Given the description of an element on the screen output the (x, y) to click on. 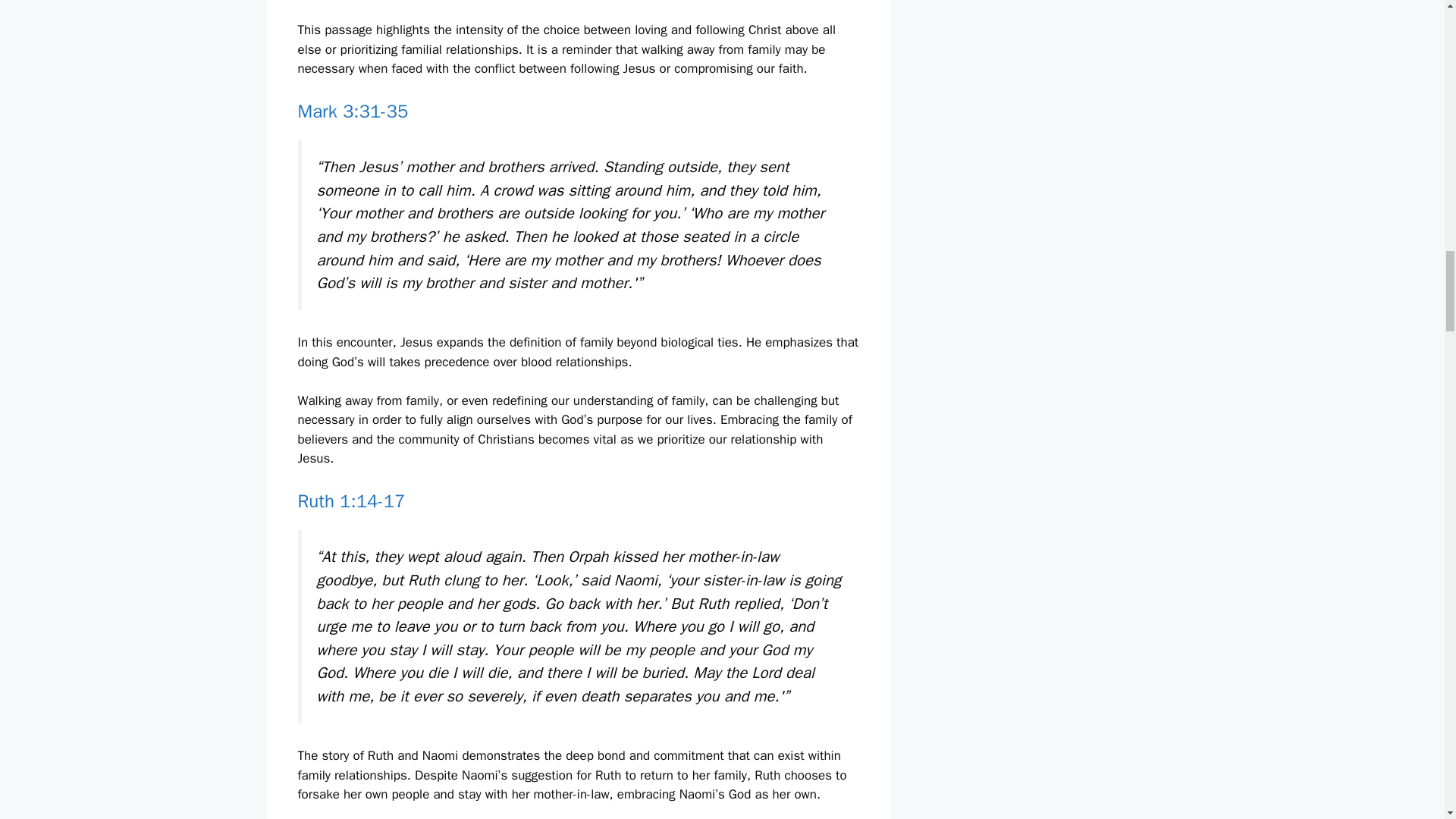
Mark 3:31-35 (352, 110)
Ruth 1:14-17 (350, 500)
